Given the description of an element on the screen output the (x, y) to click on. 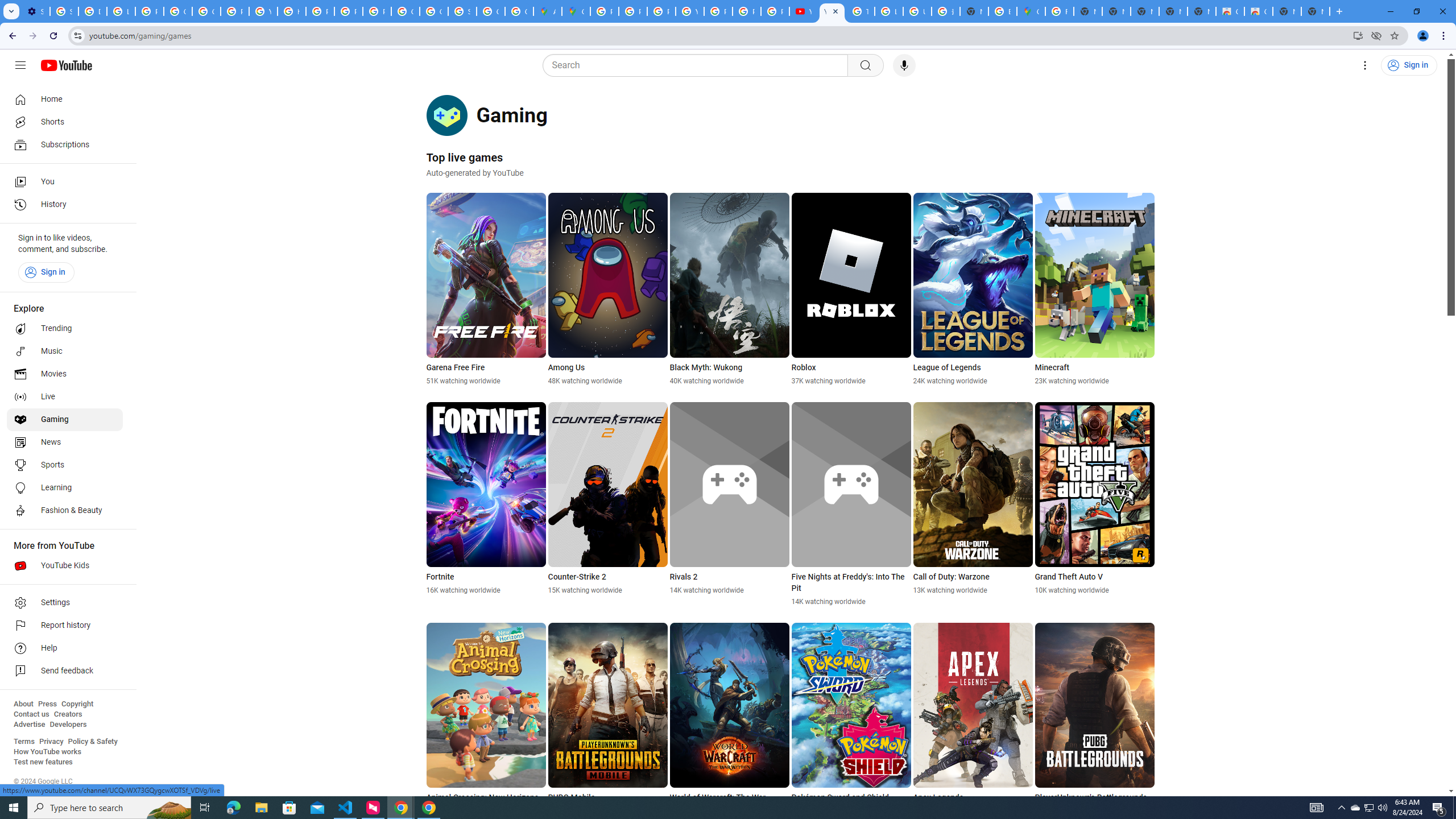
Home (64, 99)
Call of Duty: Warzone 13K watching worldwide (972, 498)
Developers (68, 724)
Creators (67, 714)
Contact us (31, 714)
About (23, 703)
Report history (64, 625)
Privacy Help Center - Policies Help (661, 11)
